Given the description of an element on the screen output the (x, y) to click on. 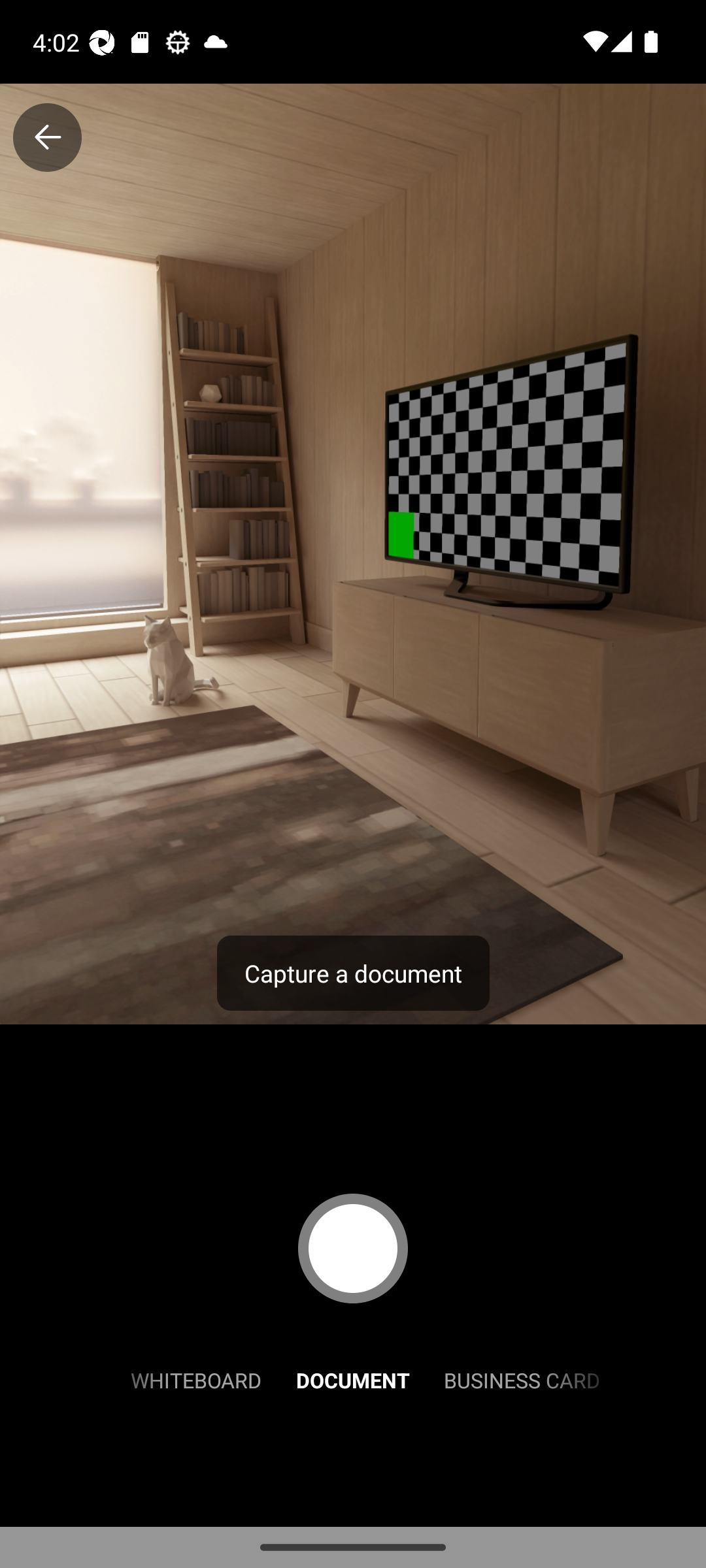
Close (47, 137)
Capture (352, 1248)
WHITEBOARD (196, 1379)
DOCUMENT (352, 1379)
BUSINESS CARD (521, 1379)
